Given the description of an element on the screen output the (x, y) to click on. 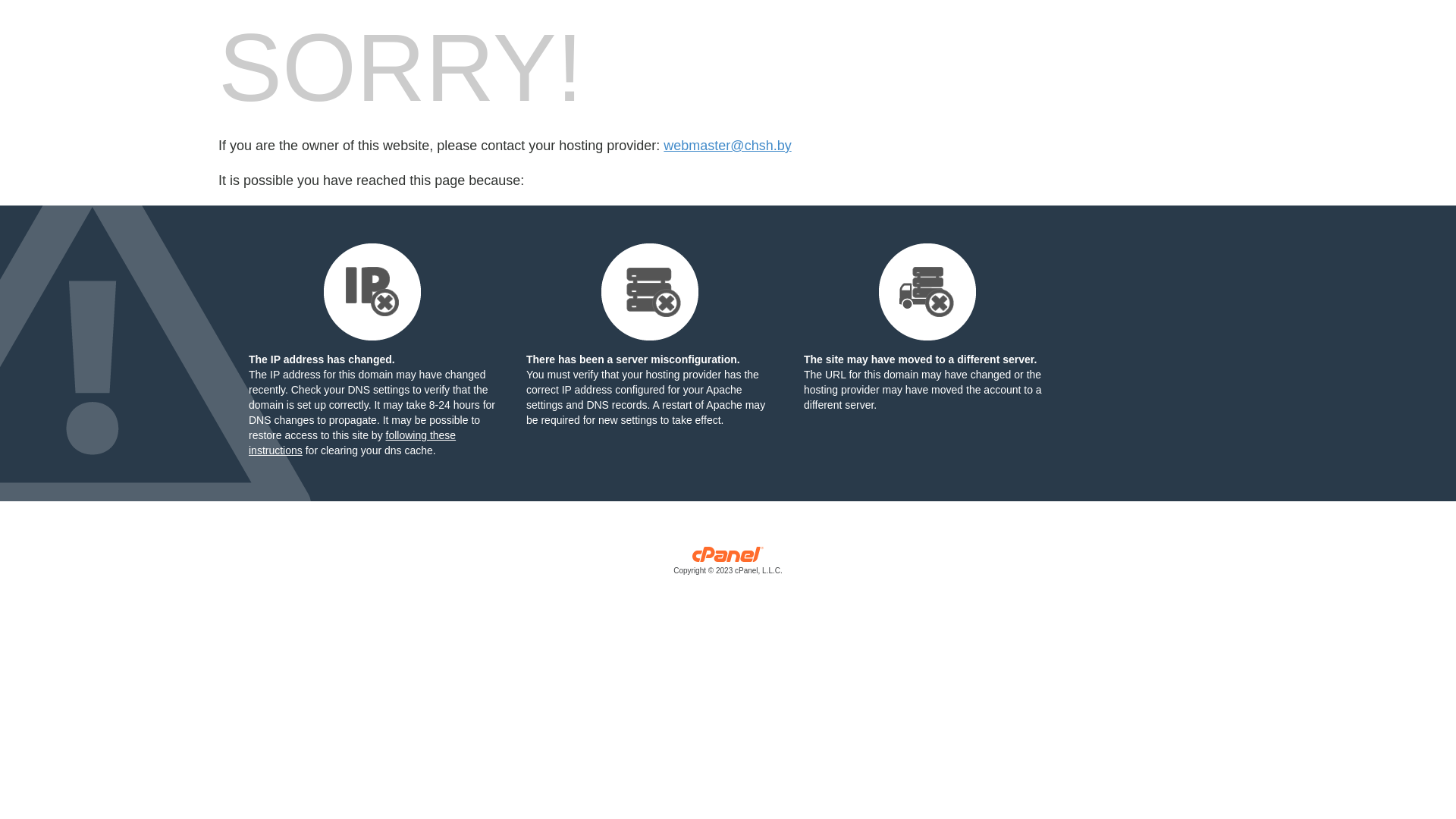
following these instructions Element type: text (351, 442)
webmaster@chsh.by Element type: text (726, 145)
